Given the description of an element on the screen output the (x, y) to click on. 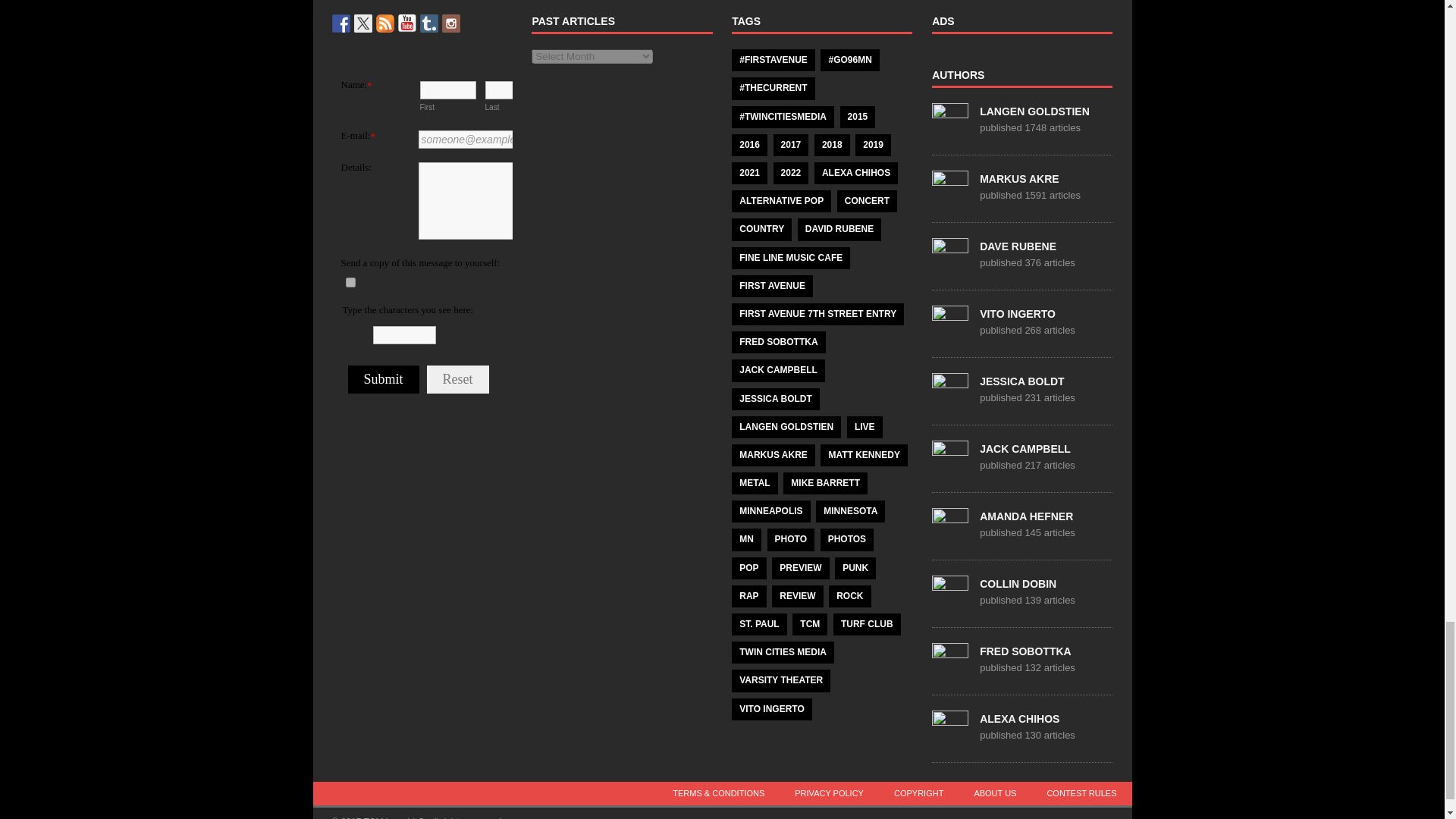
on (350, 282)
